Given the description of an element on the screen output the (x, y) to click on. 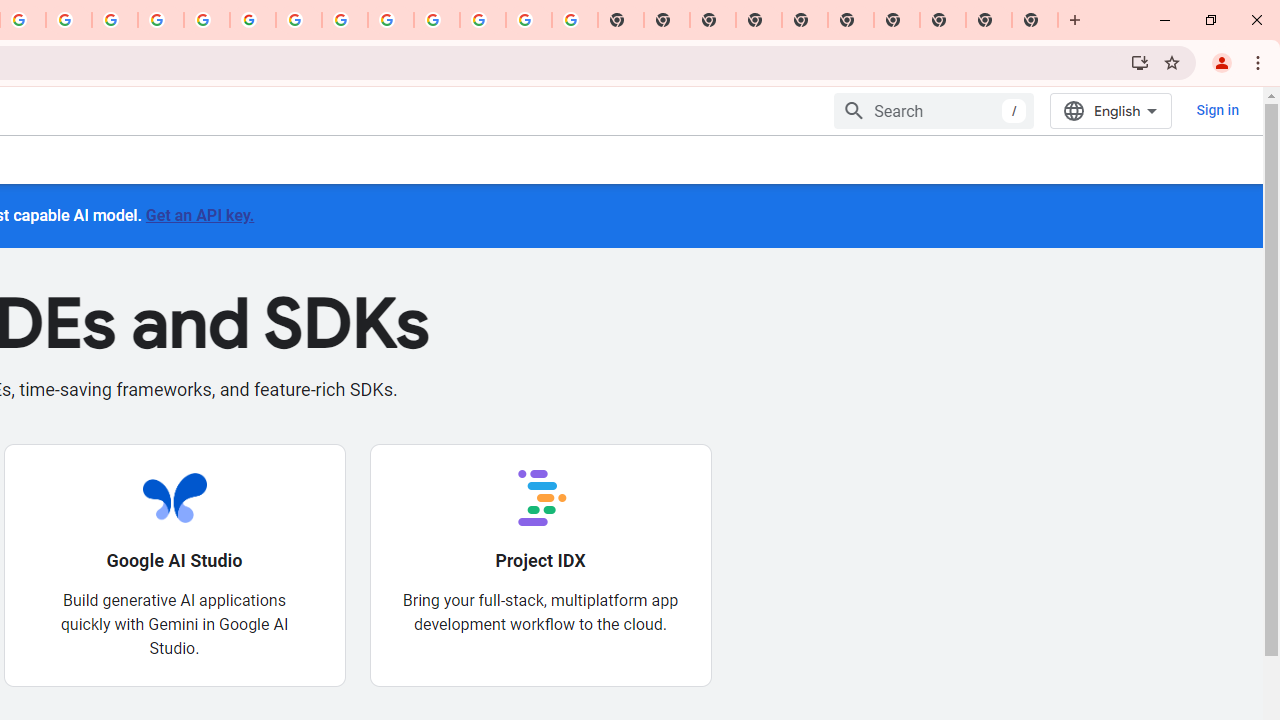
New Tab (759, 20)
Google AI Studio logo (174, 497)
Privacy Help Center - Policies Help (161, 20)
Project IDX logo (540, 497)
Get an API key. (199, 214)
English (1110, 110)
